Given the description of an element on the screen output the (x, y) to click on. 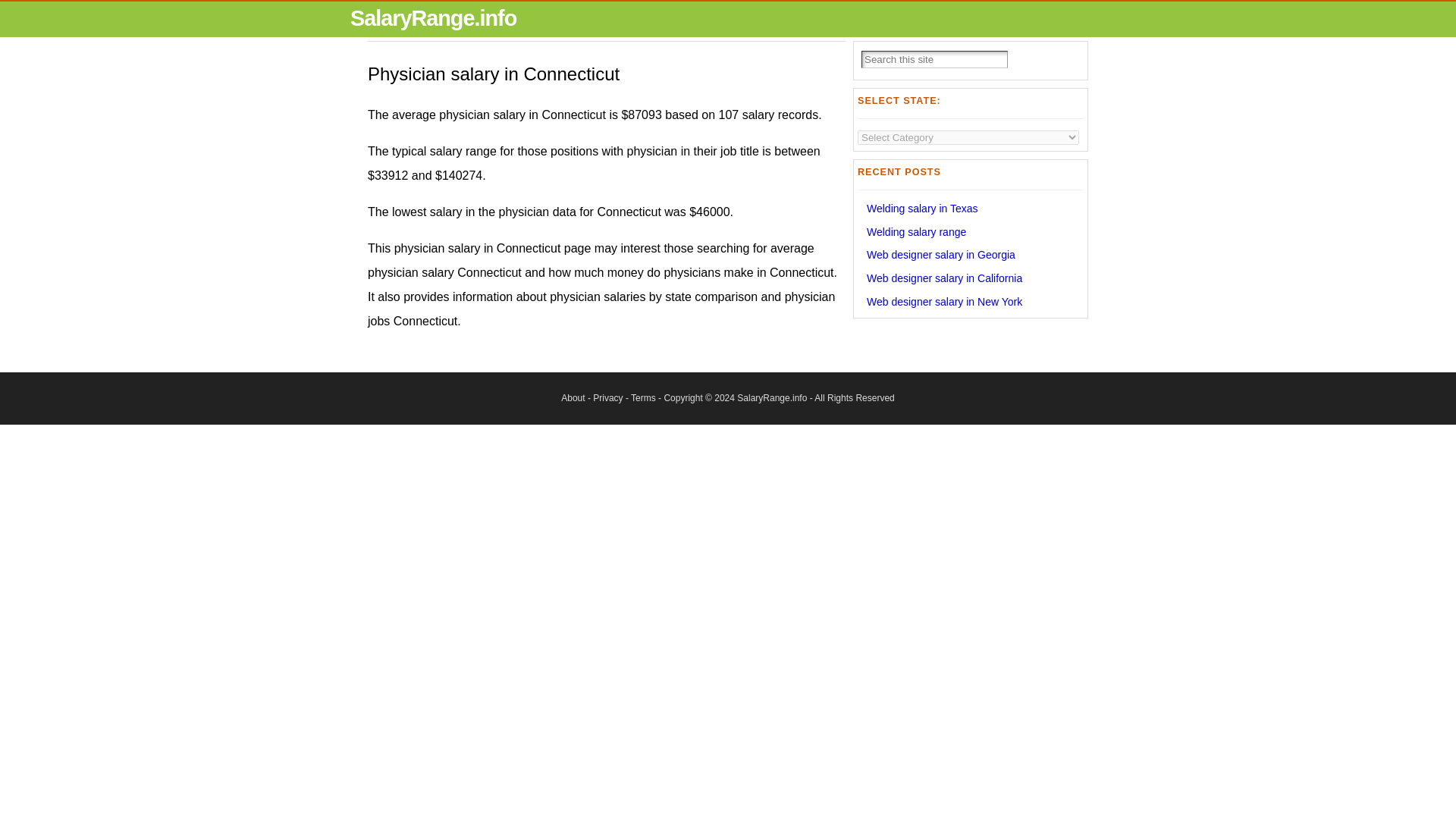
SalaryRange.info (771, 398)
Search this site (934, 58)
SalaryRange.info (433, 17)
Privacy (607, 398)
Web designer salary in California (944, 277)
Terms (643, 398)
Welding salary range (916, 232)
Welding salary in Texas (922, 208)
Web designer salary in Georgia (940, 254)
Web designer salary in New York (944, 301)
